Given the description of an element on the screen output the (x, y) to click on. 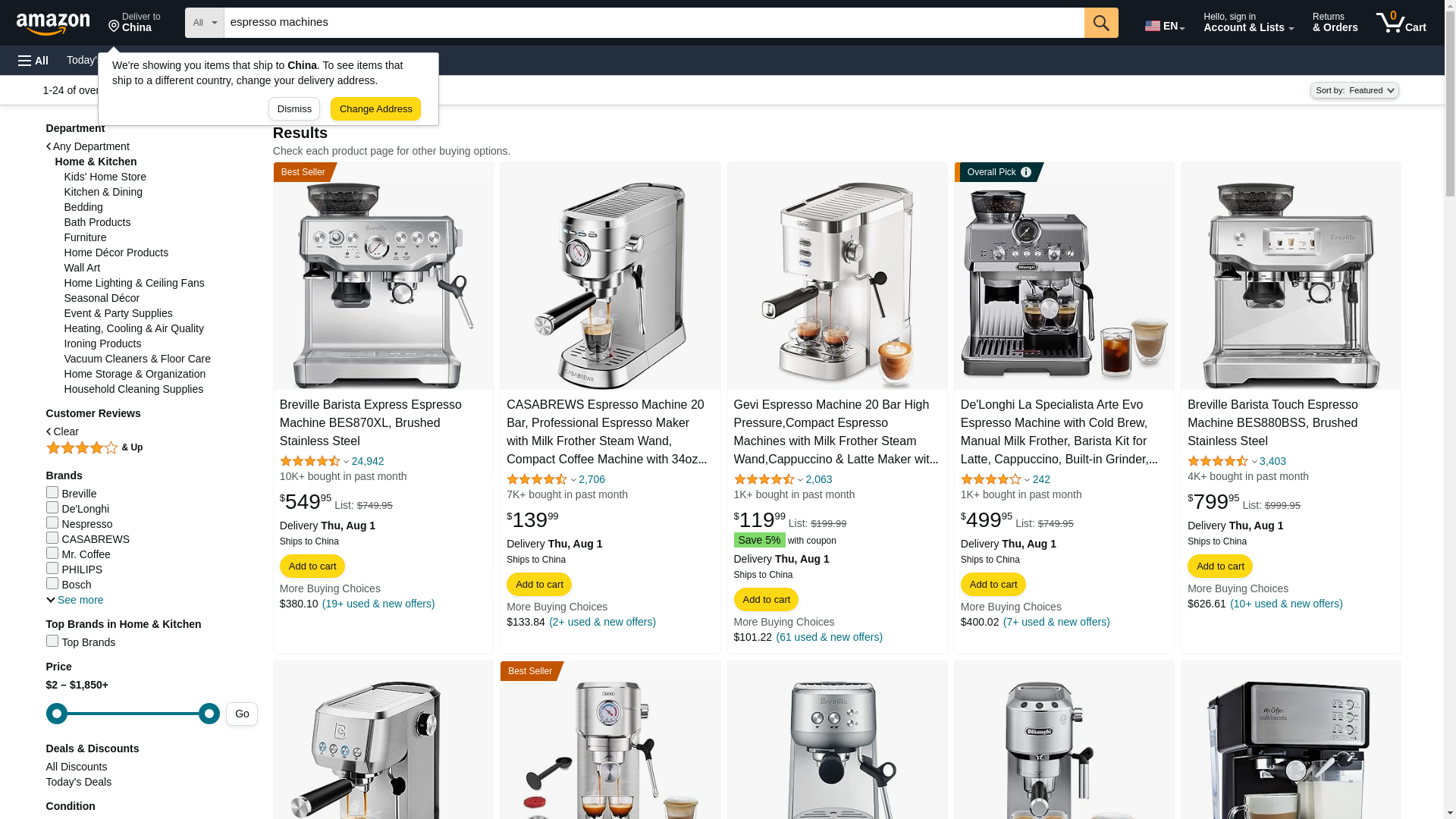
Today's Deals (99, 59)
24,942 (368, 461)
Registry (272, 59)
Skip to main content (60, 21)
Go (1101, 22)
Go (1101, 22)
EN (1163, 22)
Sell (384, 59)
espresso machines (654, 22)
All (33, 60)
Customer Service (1401, 22)
147 (134, 22)
